Given the description of an element on the screen output the (x, y) to click on. 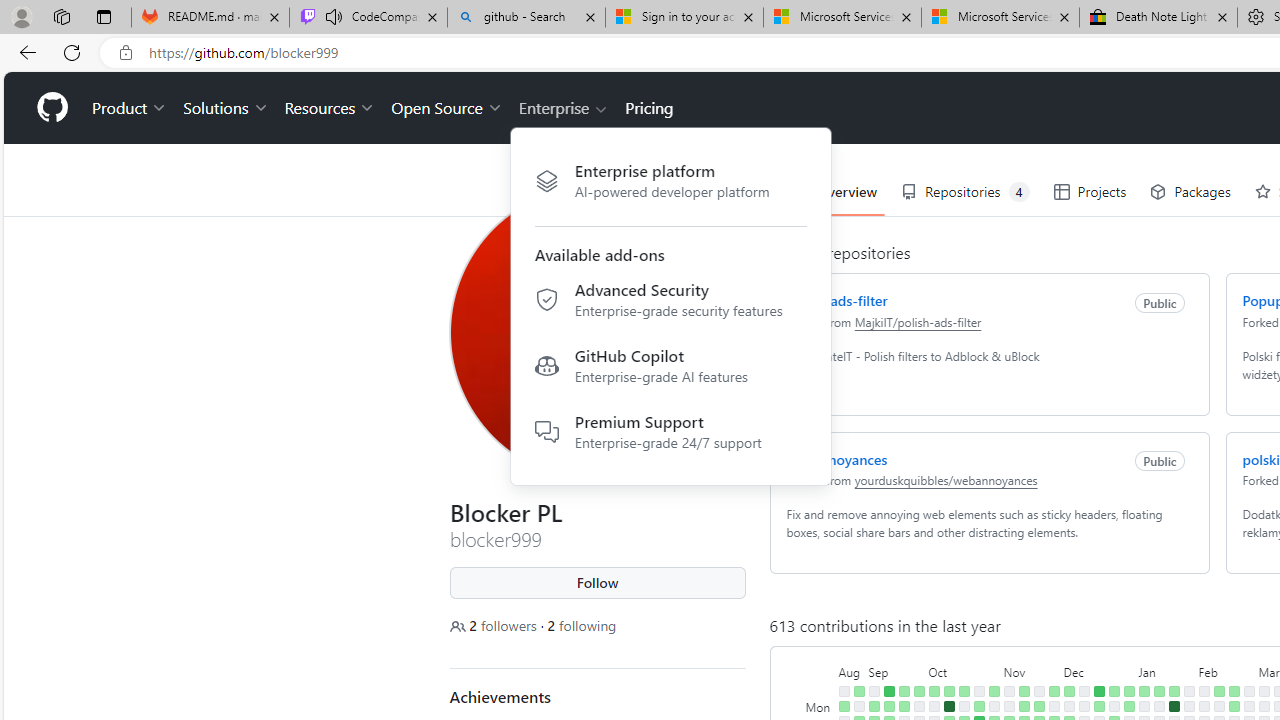
Repositories 4 (965, 192)
2 contributions on October 15th. (963, 691)
Resources (330, 107)
3 contributions on September 18th. (904, 706)
Resources (330, 107)
4 contributions on November 13th. (1023, 706)
No contributions on February 4th. (1203, 691)
Achievements (499, 696)
1 contribution on December 24th. (1114, 691)
Projects (1089, 192)
3 contributions on November 12th. (1023, 691)
No contributions on November 6th. (1009, 706)
October (963, 670)
@blocker999 (465, 95)
